Given the description of an element on the screen output the (x, y) to click on. 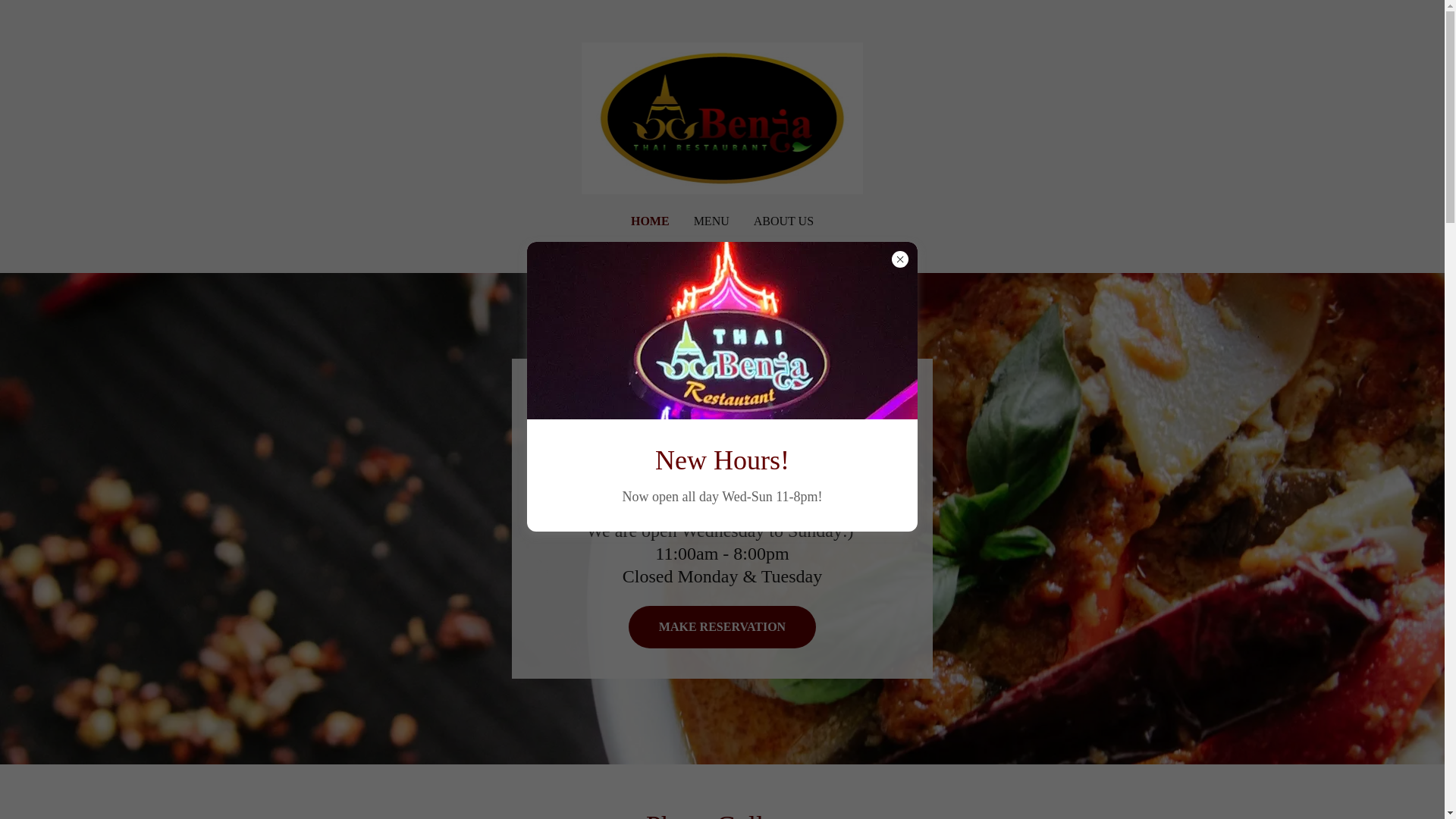
HOME (649, 221)
ABOUT US (783, 221)
MAKE RESERVATION (721, 627)
MENU (710, 221)
Benja Thai (721, 116)
